Given the description of an element on the screen output the (x, y) to click on. 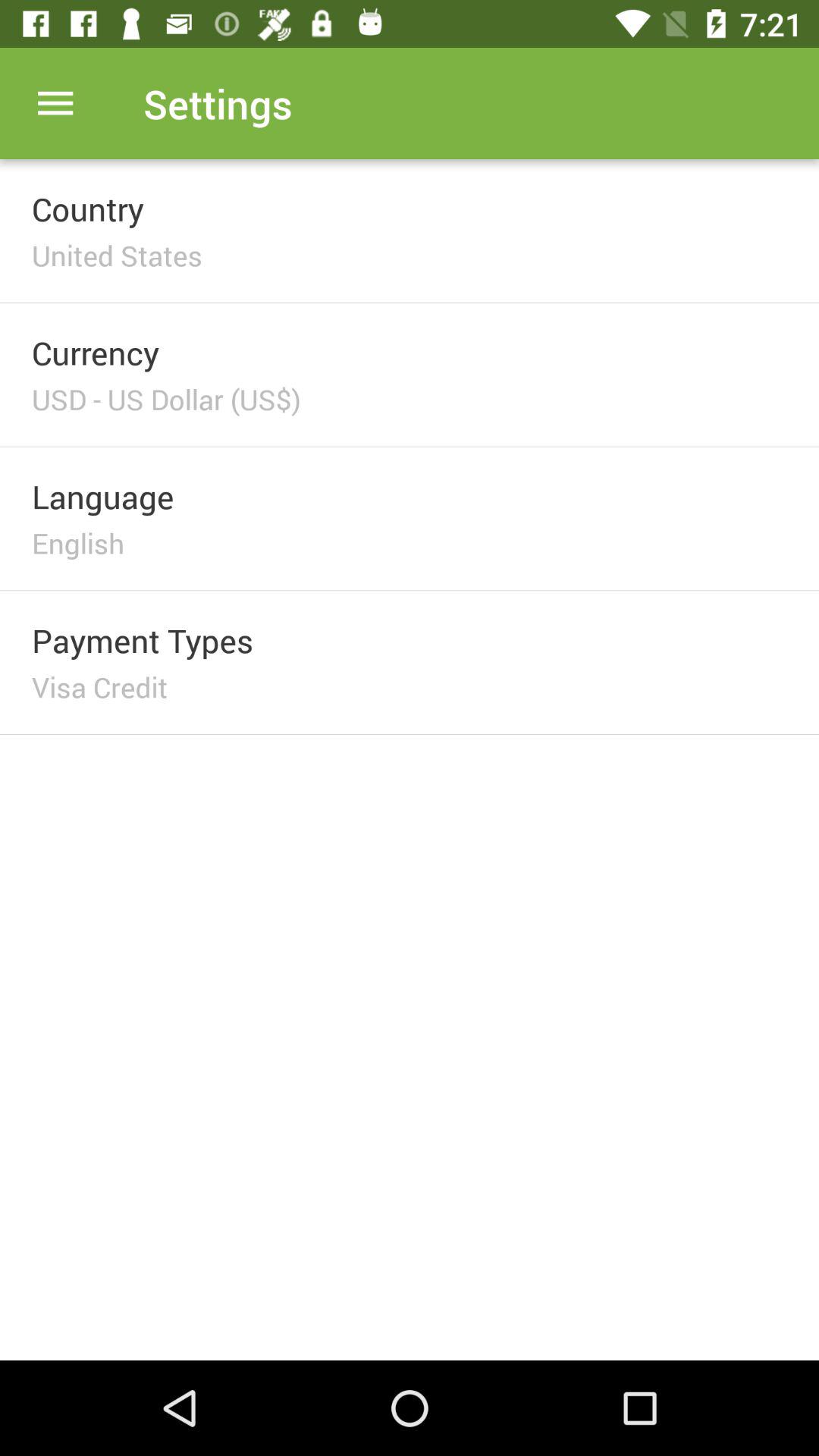
launch the item to the left of settings (55, 103)
